Given the description of an element on the screen output the (x, y) to click on. 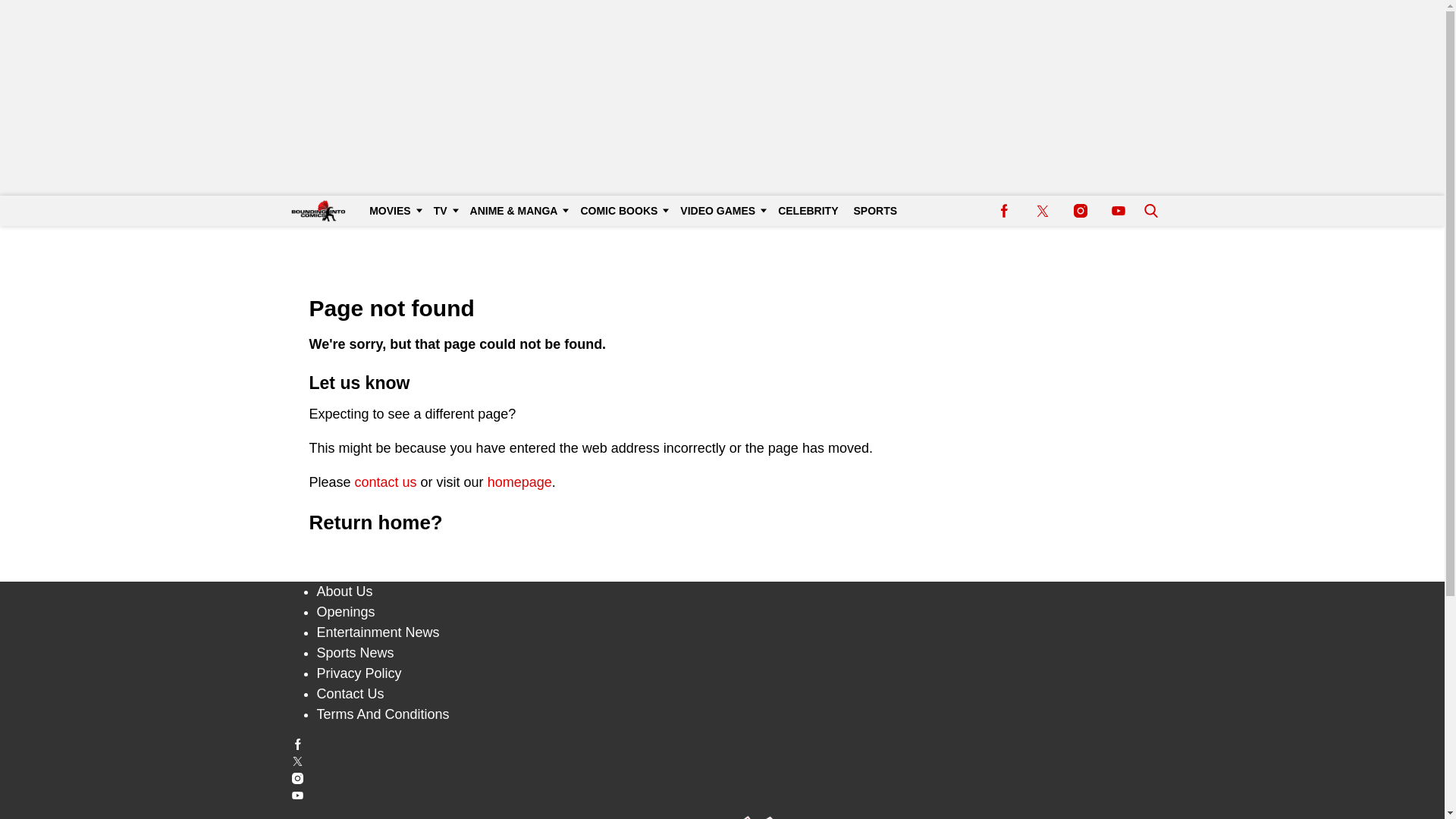
Follow us on Facebook (722, 744)
CELEBRITY (807, 210)
Subscribe to our YouTube channel (1118, 210)
Subscribe to our YouTube channel (722, 794)
contact us (385, 482)
About Us (344, 590)
MOVIES (393, 210)
COMIC BOOKS (622, 210)
Openings (346, 611)
Privacy Policy (359, 672)
